Given the description of an element on the screen output the (x, y) to click on. 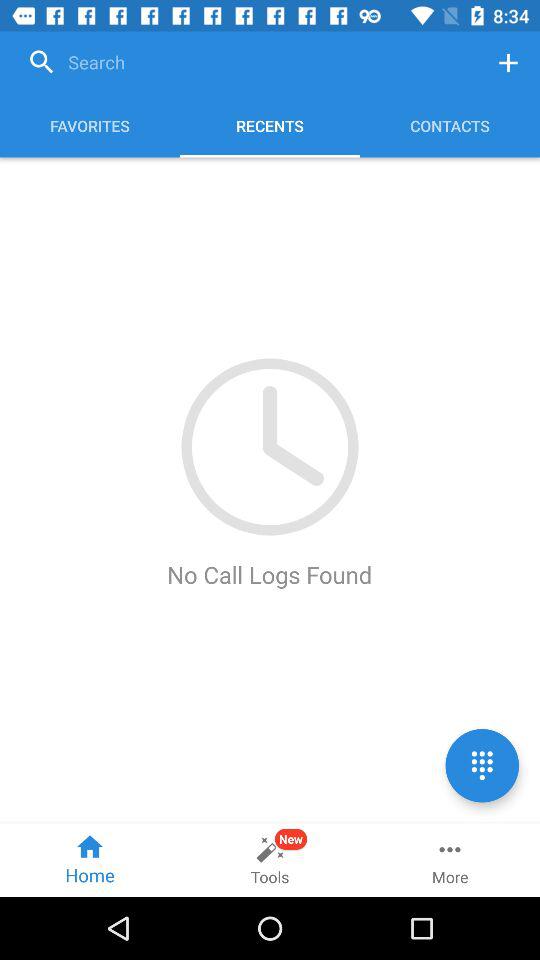
open menu (508, 62)
